Given the description of an element on the screen output the (x, y) to click on. 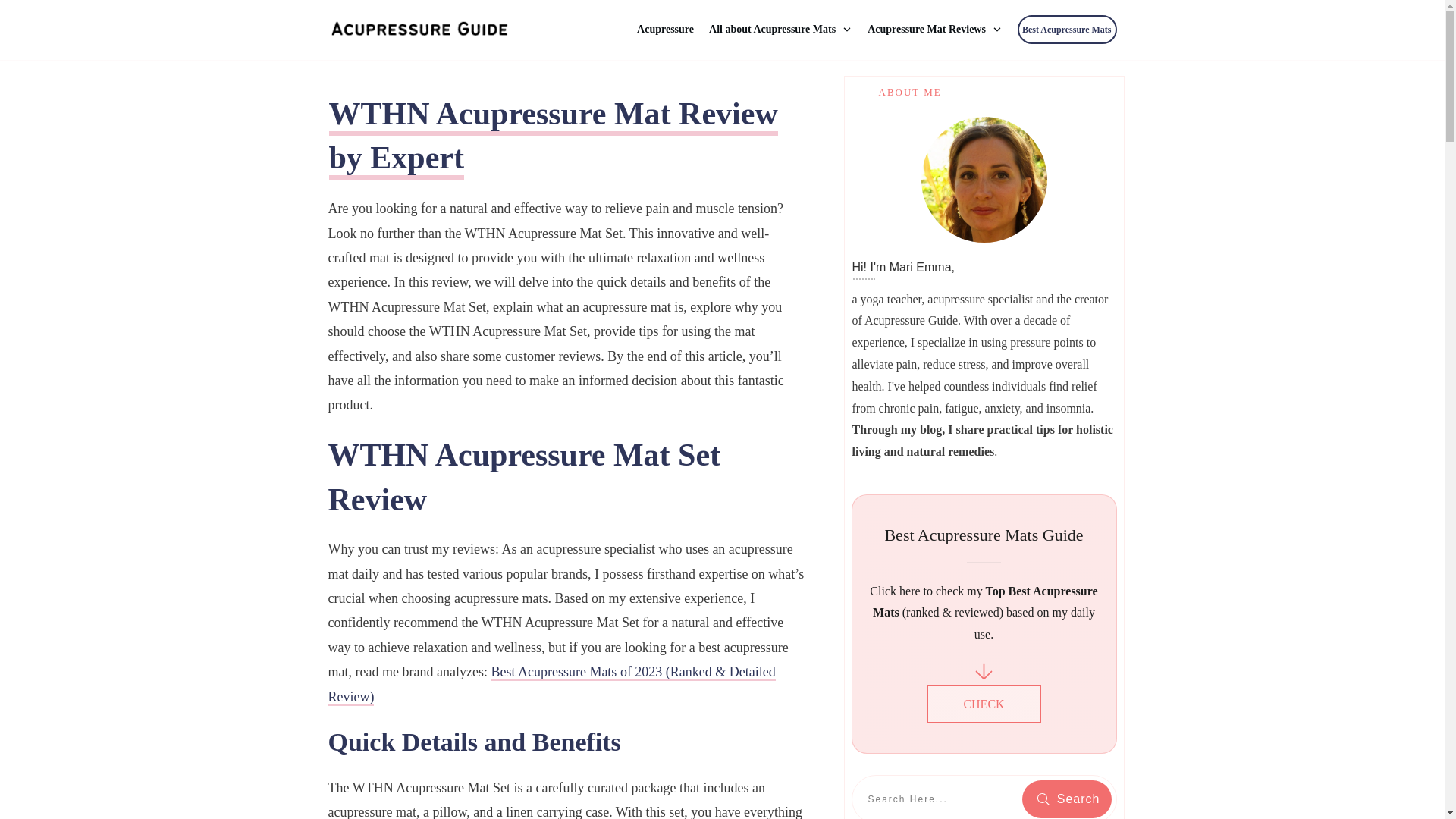
WTHN Acupressure Mat Review by Expert (553, 138)
Acupressure (665, 29)
Acupressure Mat Reviews (935, 29)
Best Acupressure Mats (1067, 29)
All about Acupressure Mats (780, 29)
WTHN Acupressure Mat Review by Expert (553, 138)
CHECK (984, 703)
Mari Emma (983, 179)
